Given the description of an element on the screen output the (x, y) to click on. 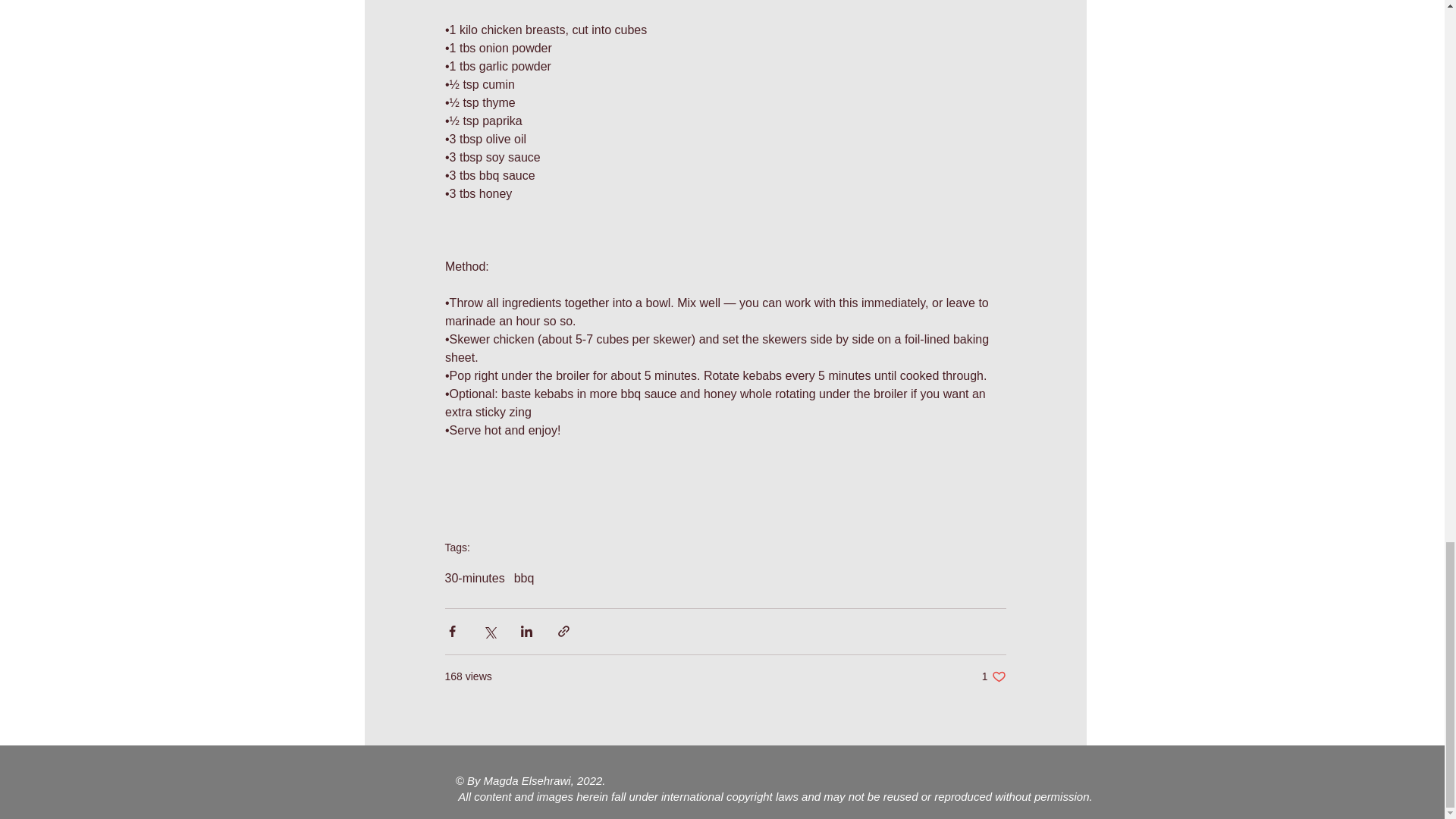
bbq (523, 578)
30-minutes (473, 578)
